Given the description of an element on the screen output the (x, y) to click on. 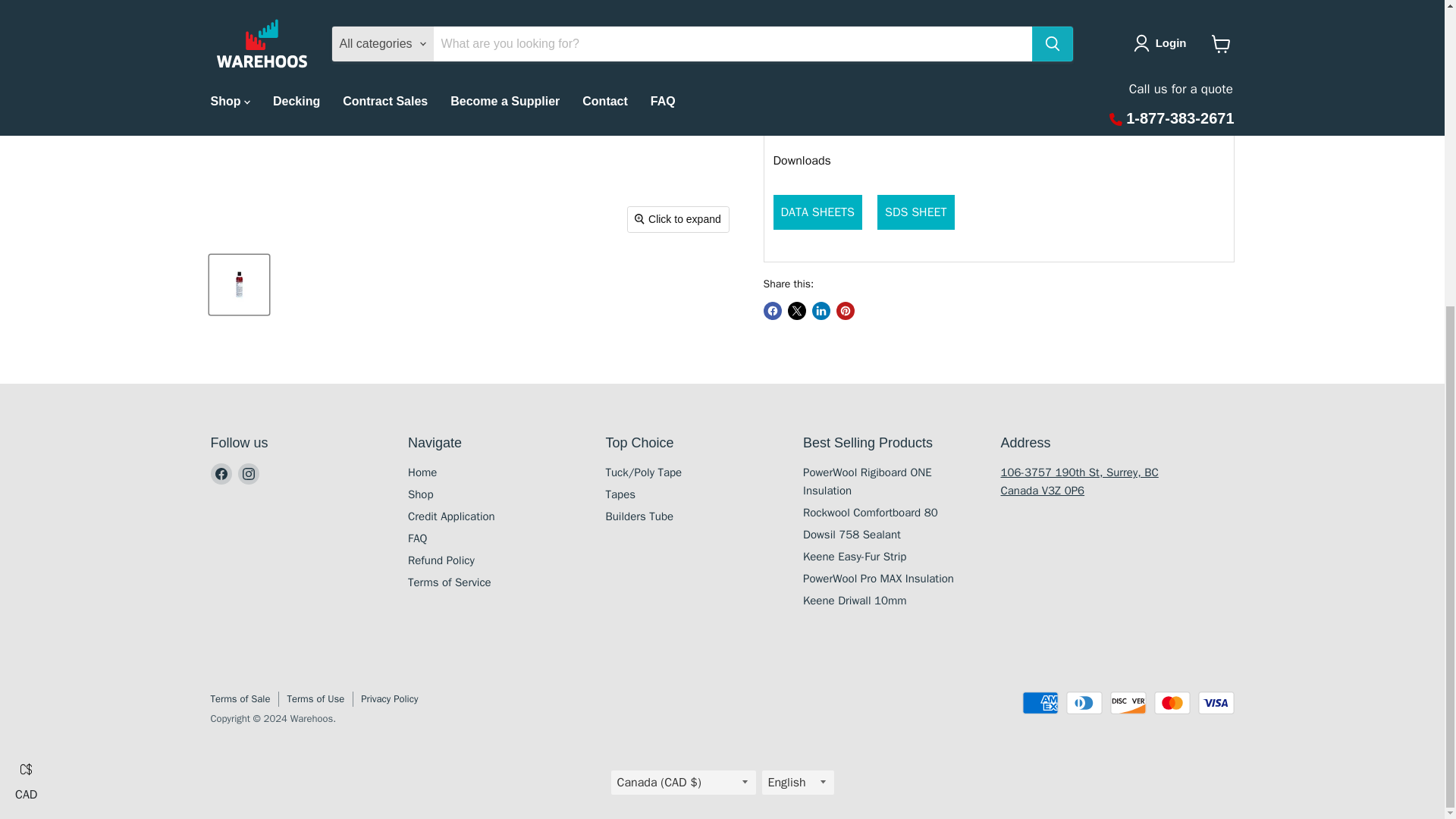
American Express (1040, 702)
Discover (1128, 702)
Facebook (221, 473)
Diners Club (1083, 702)
Instagram (248, 473)
